Given the description of an element on the screen output the (x, y) to click on. 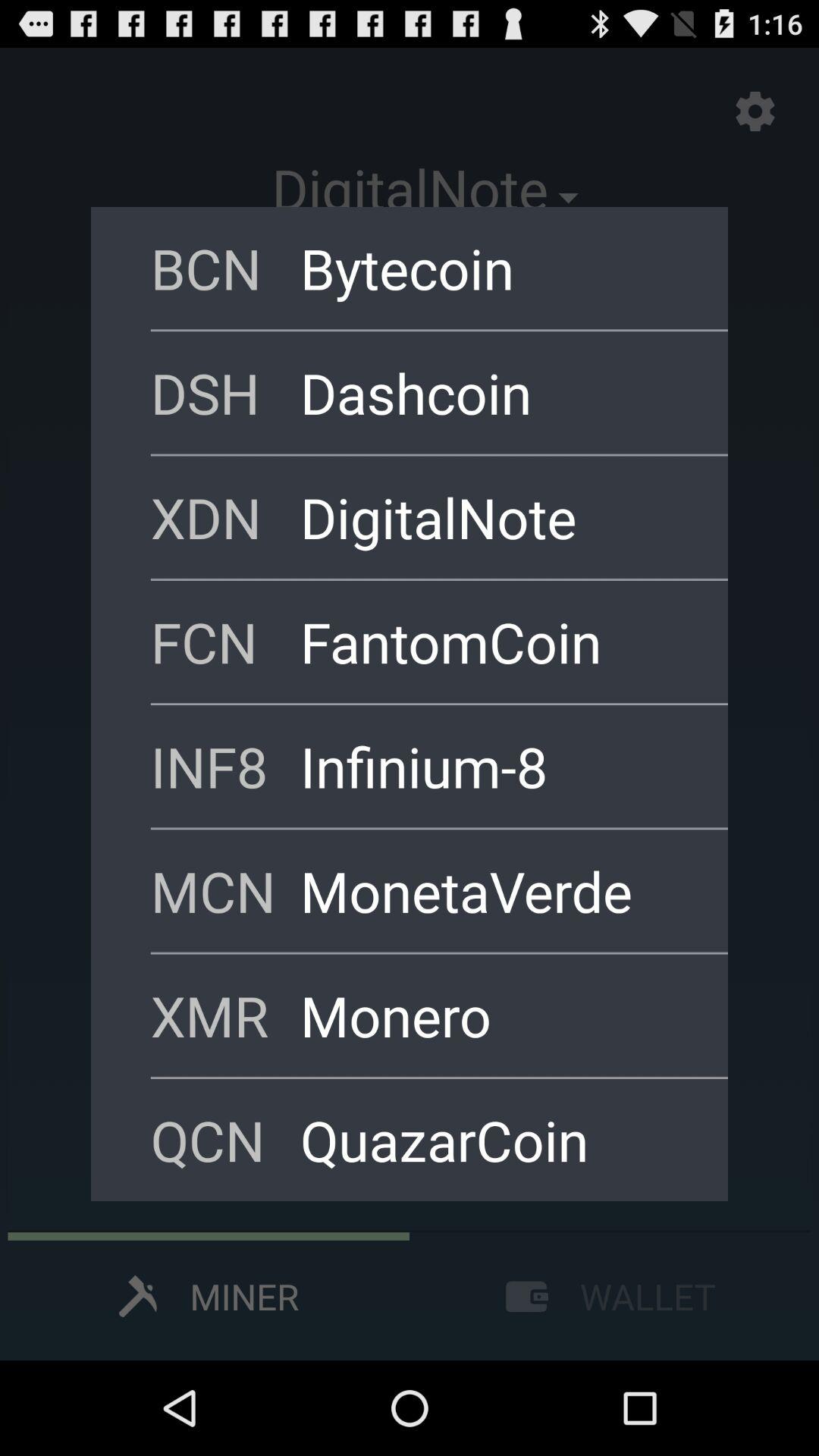
tap item below dsh (494, 517)
